Given the description of an element on the screen output the (x, y) to click on. 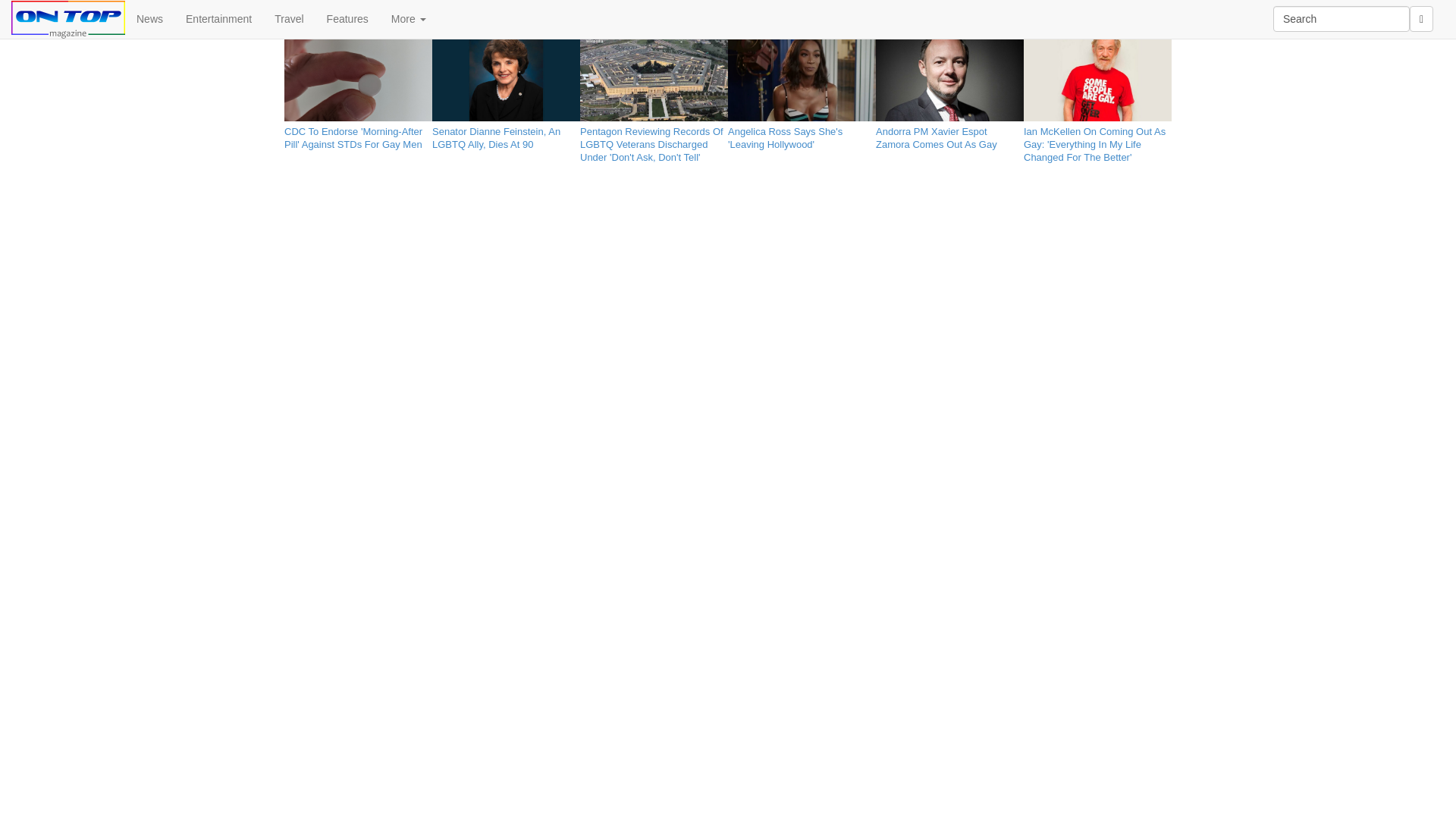
Search by keyword (1340, 18)
Travel (288, 18)
Andorra PM Xavier Espot Zamora Comes Out As Gay (949, 135)
Features (347, 18)
More (409, 18)
CDC To Endorse 'Morning-After Pill' Against STDs For Gay Men (357, 135)
News (149, 18)
Search (1340, 18)
